Given the description of an element on the screen output the (x, y) to click on. 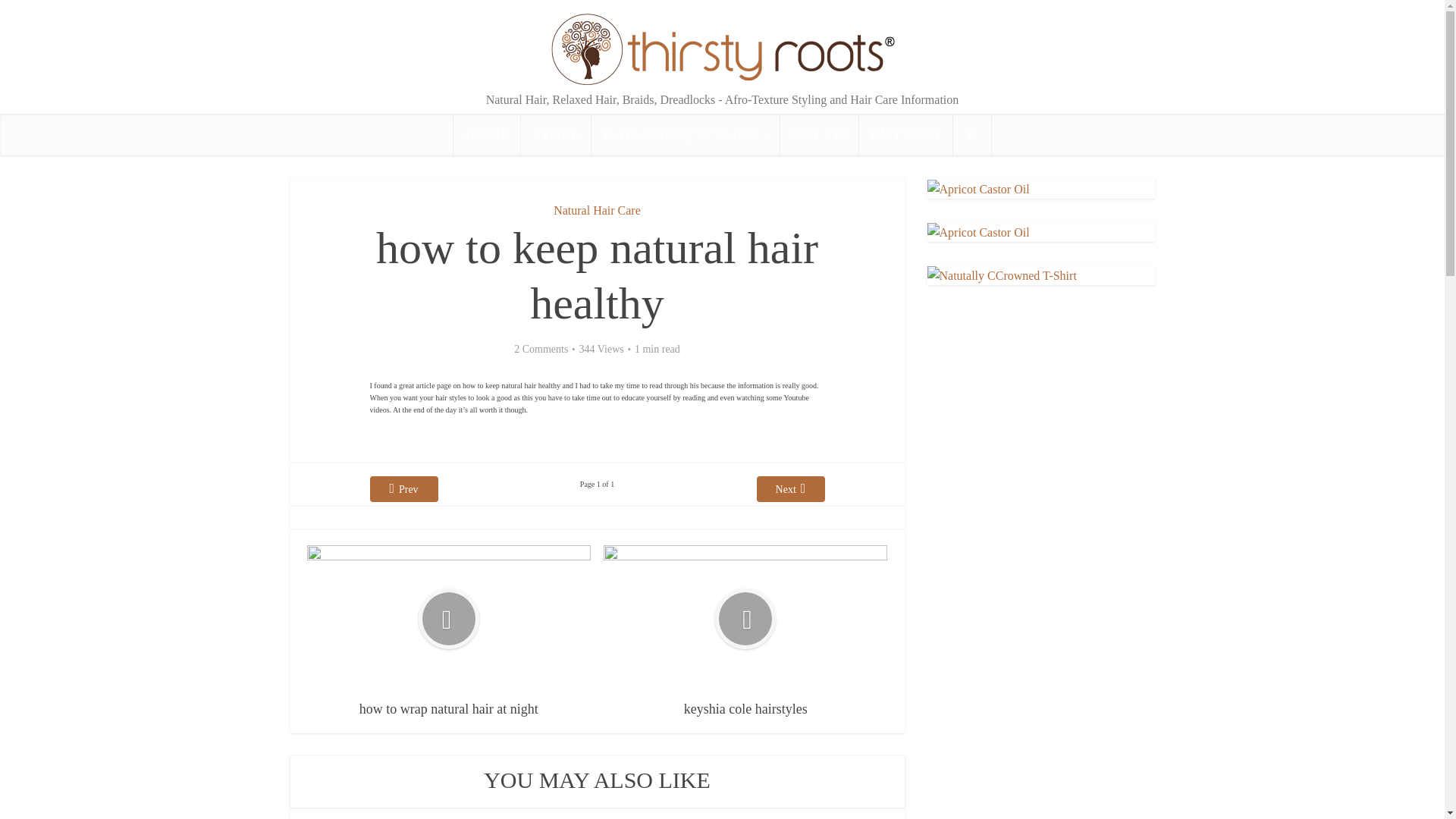
Natural Hair Care (596, 210)
how to wrap natural hair at night (449, 631)
Next (791, 488)
HOME (486, 134)
BUY NOW (906, 134)
2 Comments (540, 349)
GET FIT (819, 134)
keyshia cole hairstyles (745, 631)
Prev (403, 488)
STORE (556, 134)
